Given the description of an element on the screen output the (x, y) to click on. 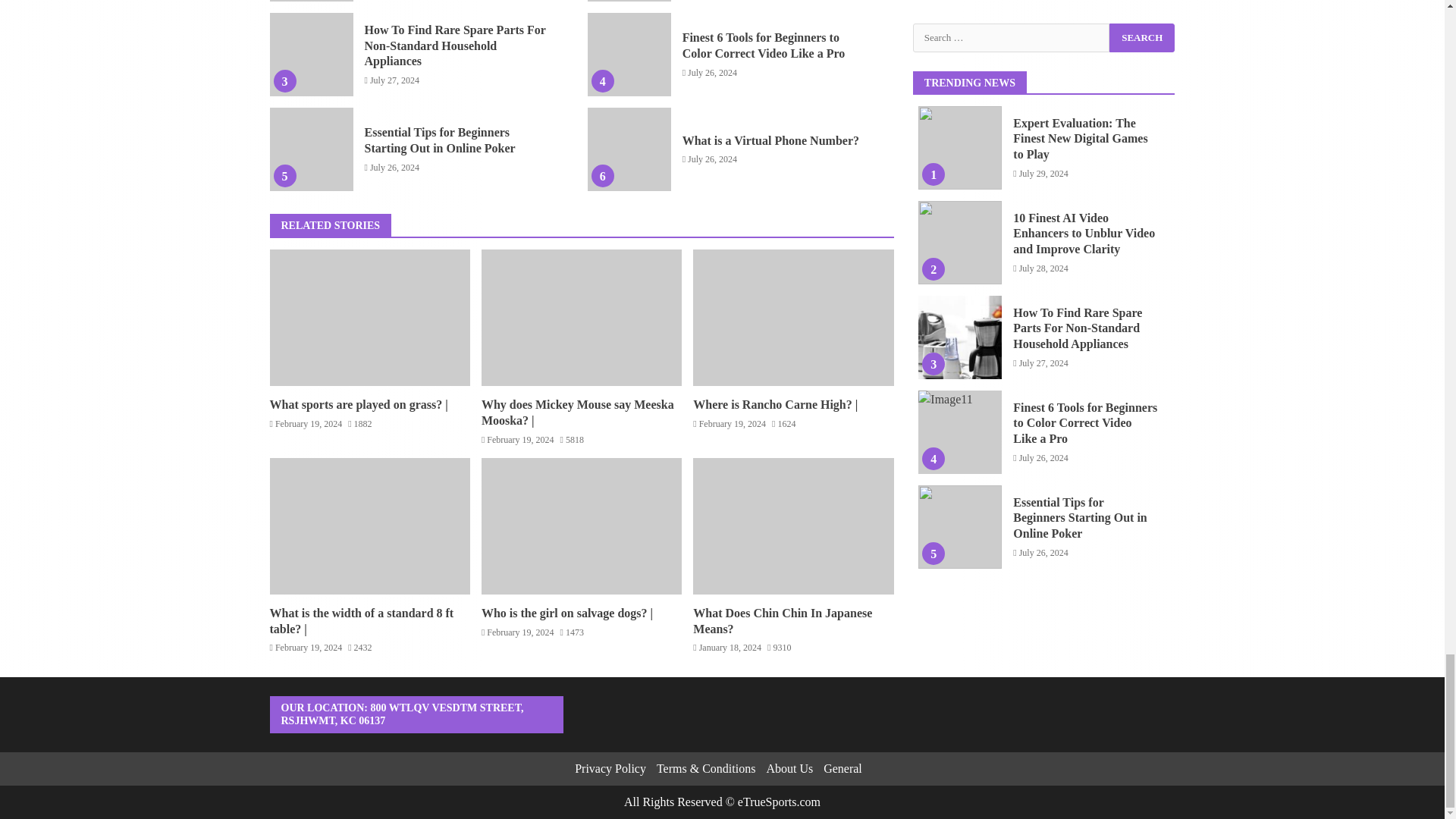
Expert Evaluation: The Finest New Digital Games to Play (311, 0)
